Given the description of an element on the screen output the (x, y) to click on. 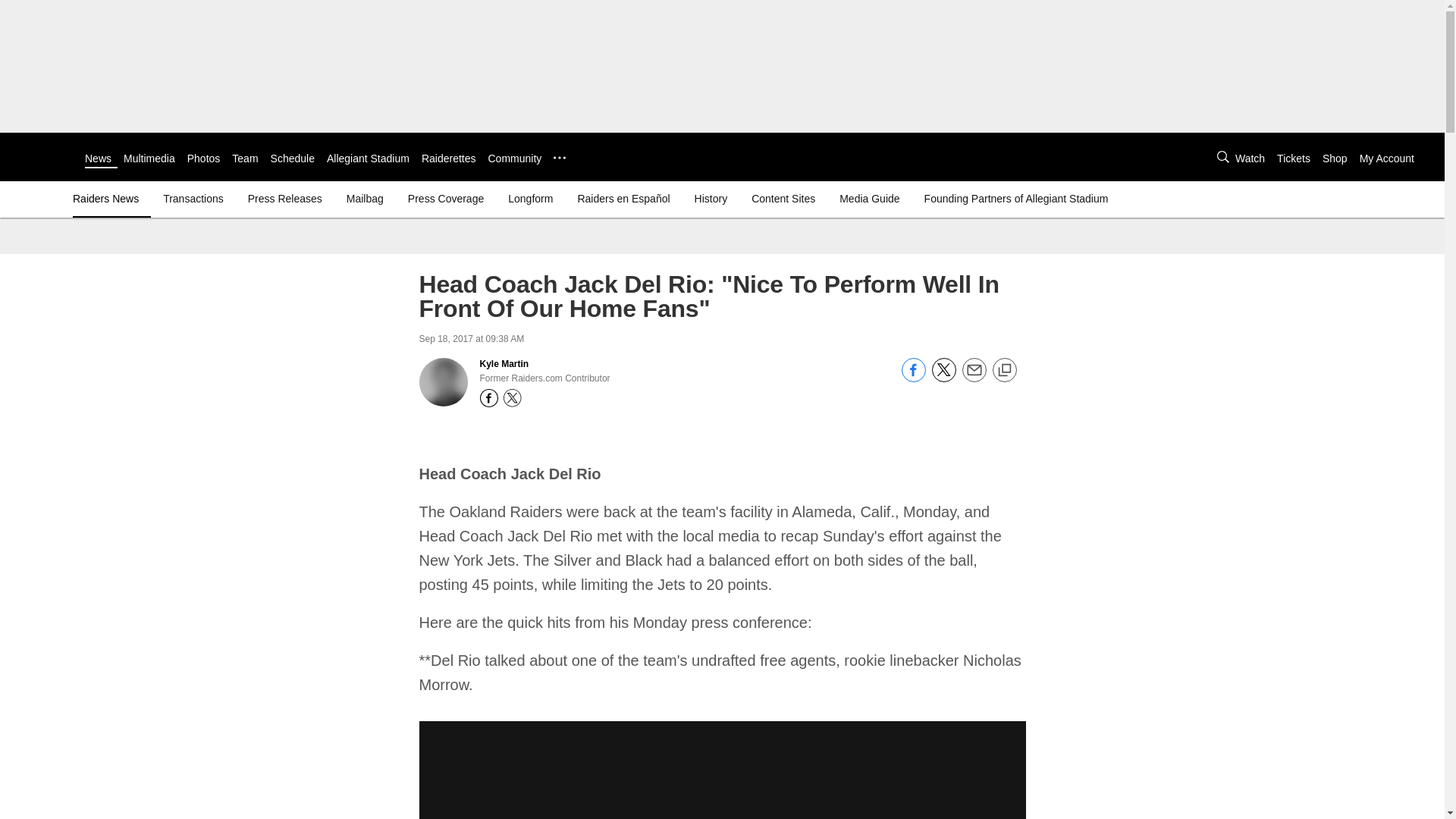
Multimedia (148, 158)
News (98, 158)
Community (514, 158)
Press Coverage (445, 198)
Content Sites (783, 198)
Allegiant Stadium (367, 158)
Schedule (292, 158)
Team (244, 158)
Multimedia (148, 158)
Photos (204, 158)
